Given the description of an element on the screen output the (x, y) to click on. 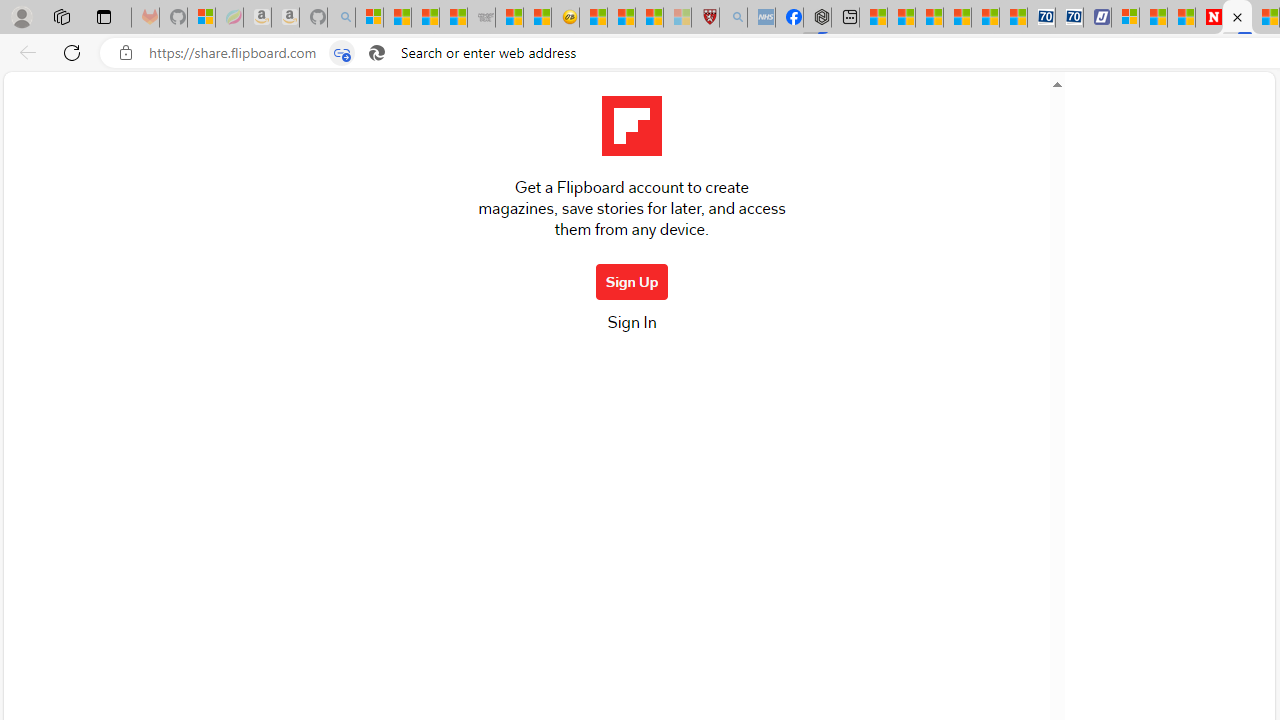
Newsweek - News, Analysis, Politics, Business, Technology (1208, 17)
Cheap Car Rentals - Save70.com (1040, 17)
Combat Siege (481, 17)
Sign In (631, 327)
